Given the description of an element on the screen output the (x, y) to click on. 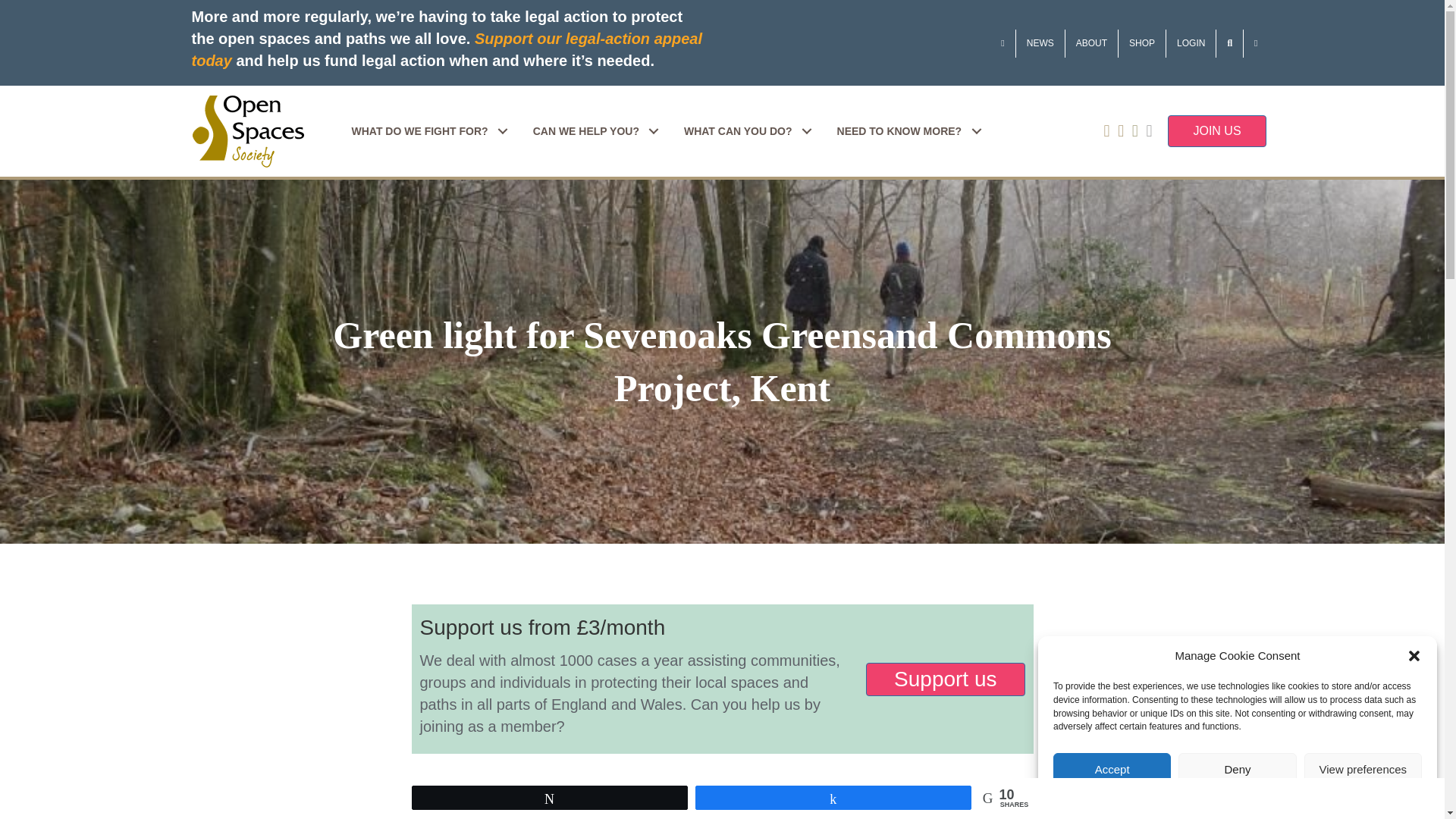
LOGIN (1190, 43)
Open Spaces Society Logo (247, 131)
Support our legal-action appeal today (445, 49)
ABOUT (1091, 43)
Search (1229, 43)
SHOP (1142, 43)
NEWS (1040, 43)
